Given the description of an element on the screen output the (x, y) to click on. 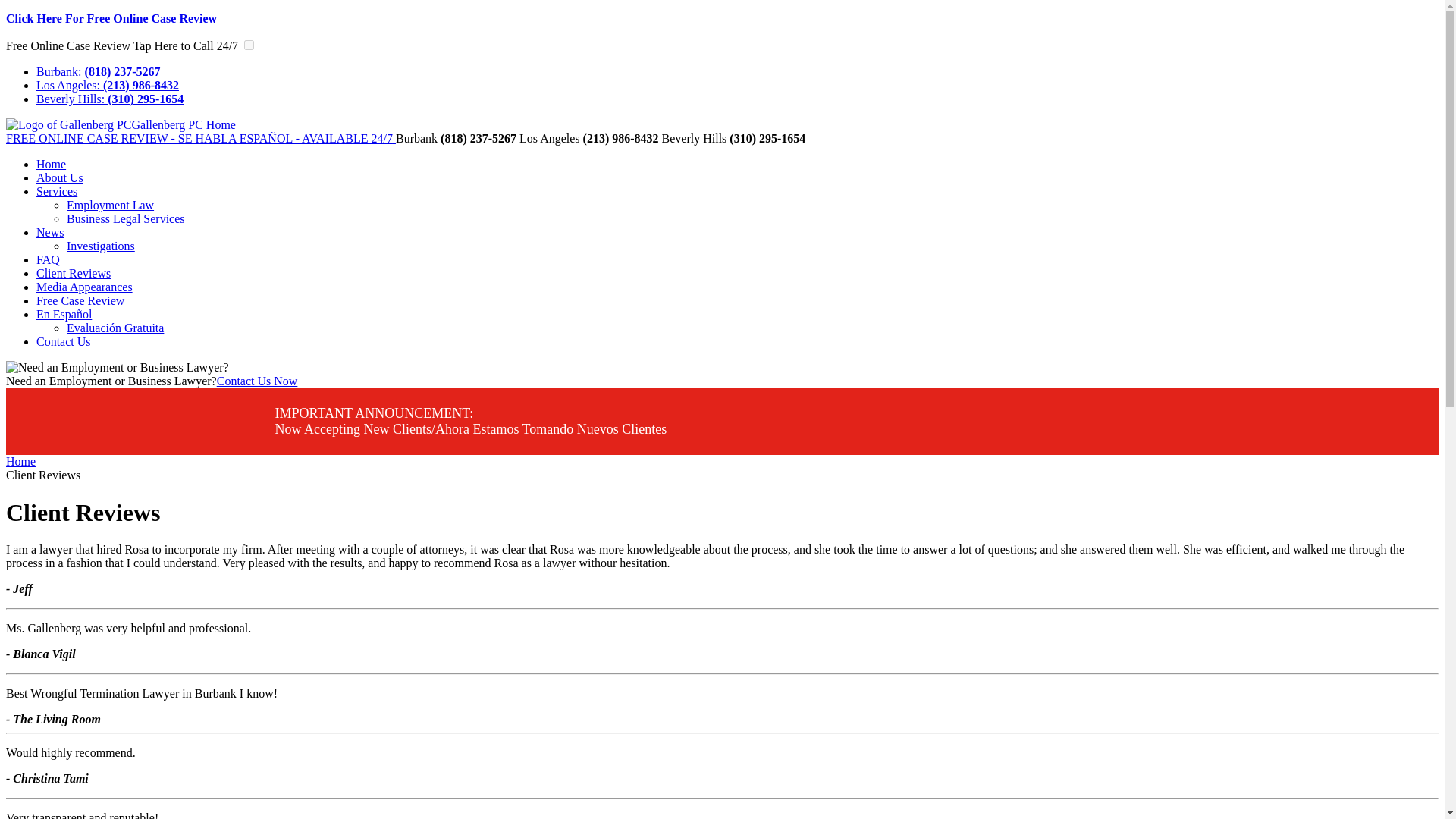
Contact Us Now (257, 380)
on (248, 44)
Home (50, 164)
Business Legal Services (125, 218)
Services (56, 191)
FAQ (47, 259)
Client Reviews (73, 273)
About Us (59, 177)
Click Here For Free Online Case Review (110, 18)
Gallenberg PC Home (120, 124)
